Given the description of an element on the screen output the (x, y) to click on. 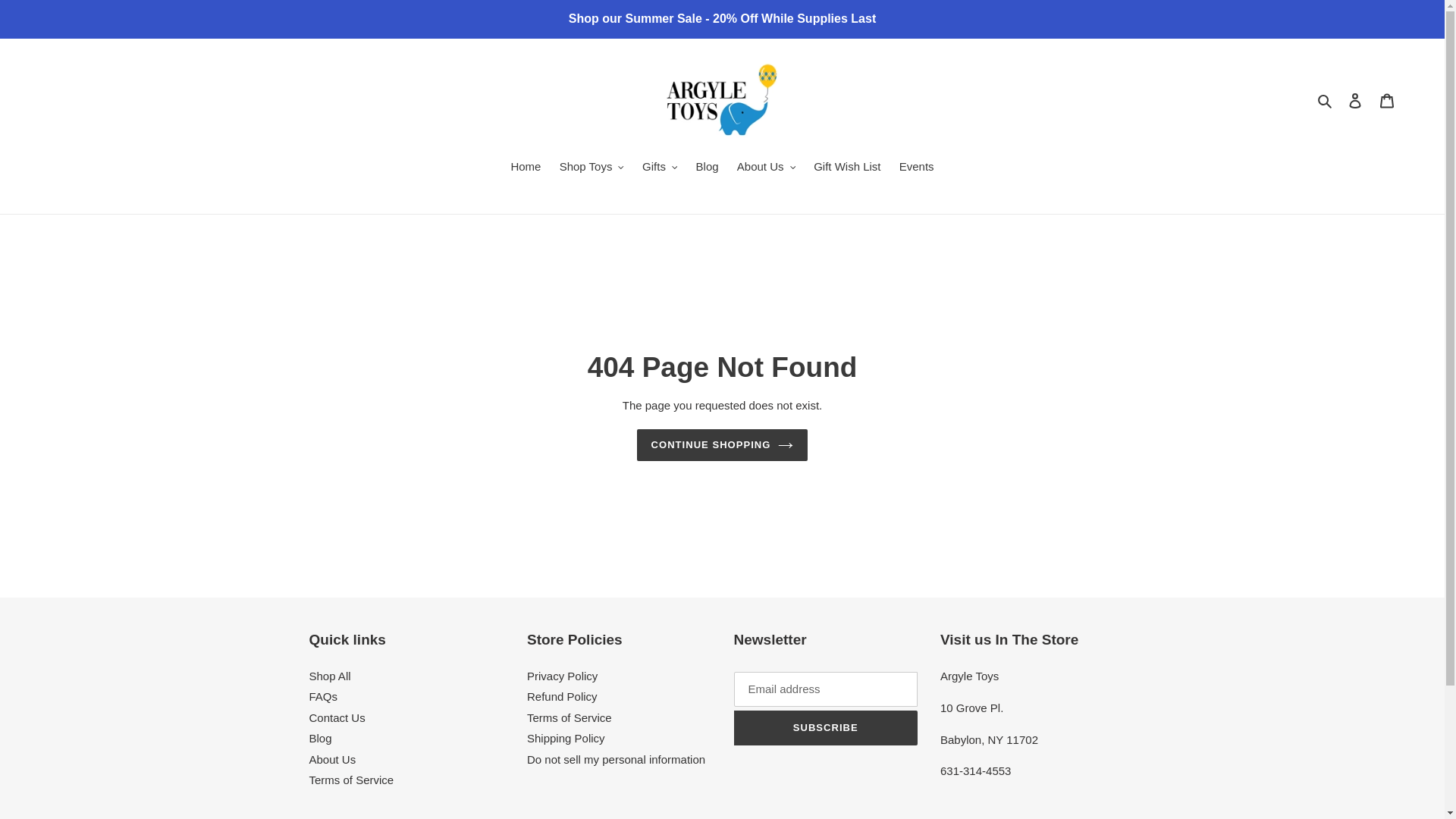
Cart (1387, 100)
Log in (1355, 100)
Search (1326, 99)
